Given the description of an element on the screen output the (x, y) to click on. 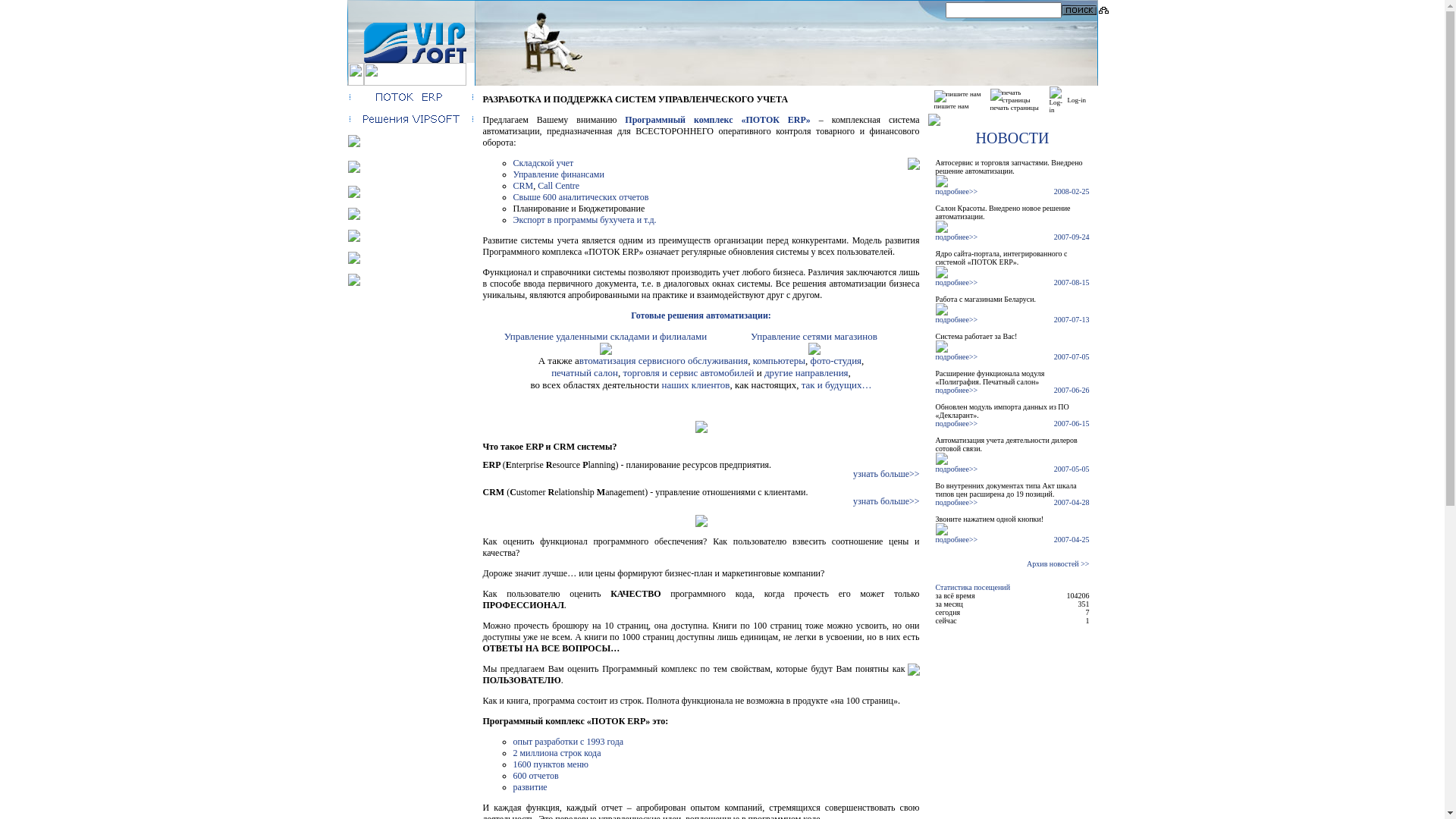
Call Centre Element type: text (558, 185)
Log-in Element type: text (1076, 99)
CRM Element type: text (522, 185)
Log-in Element type: hover (1057, 99)
